Given the description of an element on the screen output the (x, y) to click on. 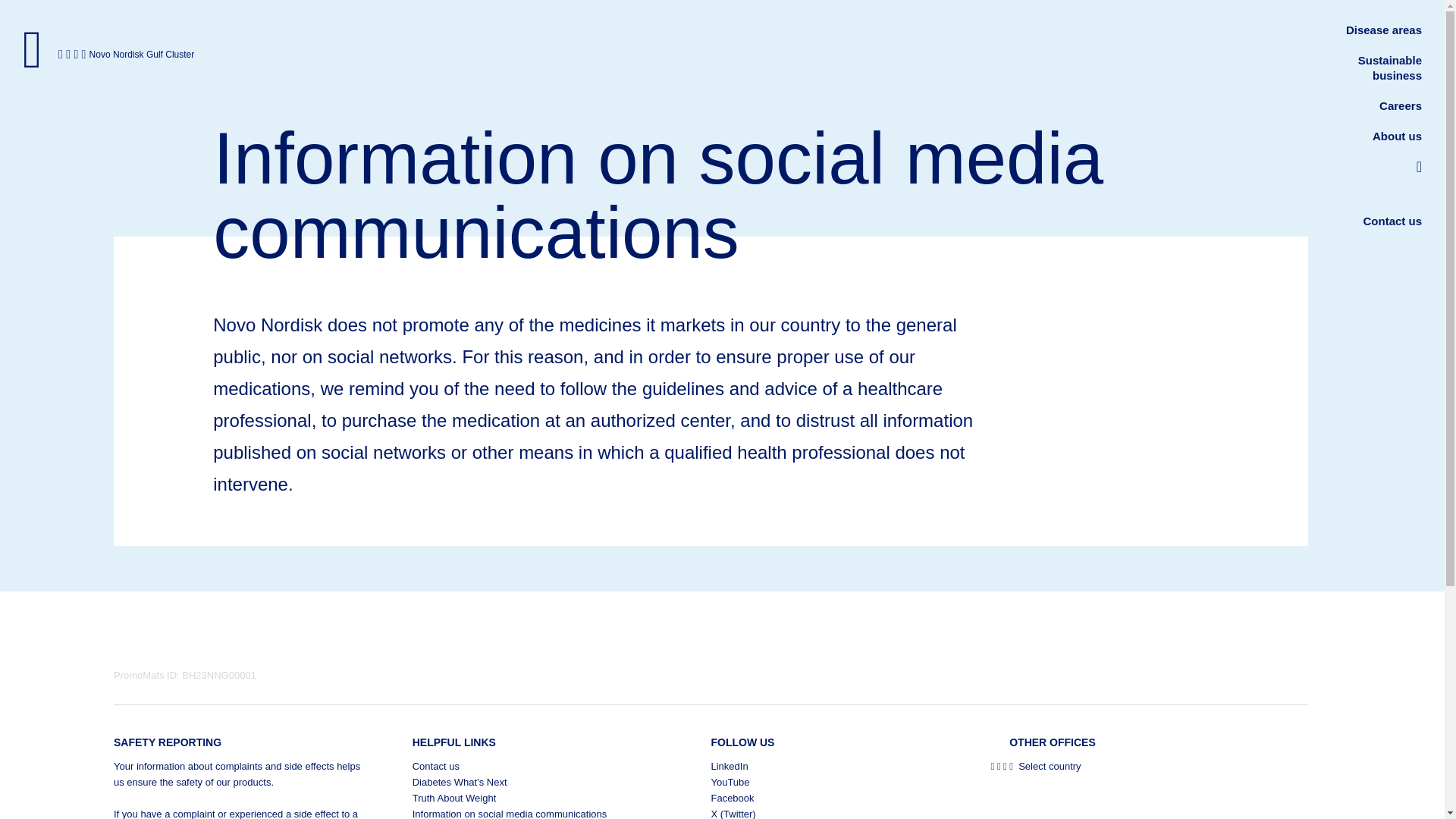
Disease areas (1383, 29)
Truth About Weight (536, 797)
About us (1397, 135)
Novo Nordisk Gulf Cluster (138, 54)
Careers (1400, 105)
Information on social media communications (536, 812)
Sustainable business (1390, 67)
Contact us (536, 765)
Contact us (1392, 220)
